Given the description of an element on the screen output the (x, y) to click on. 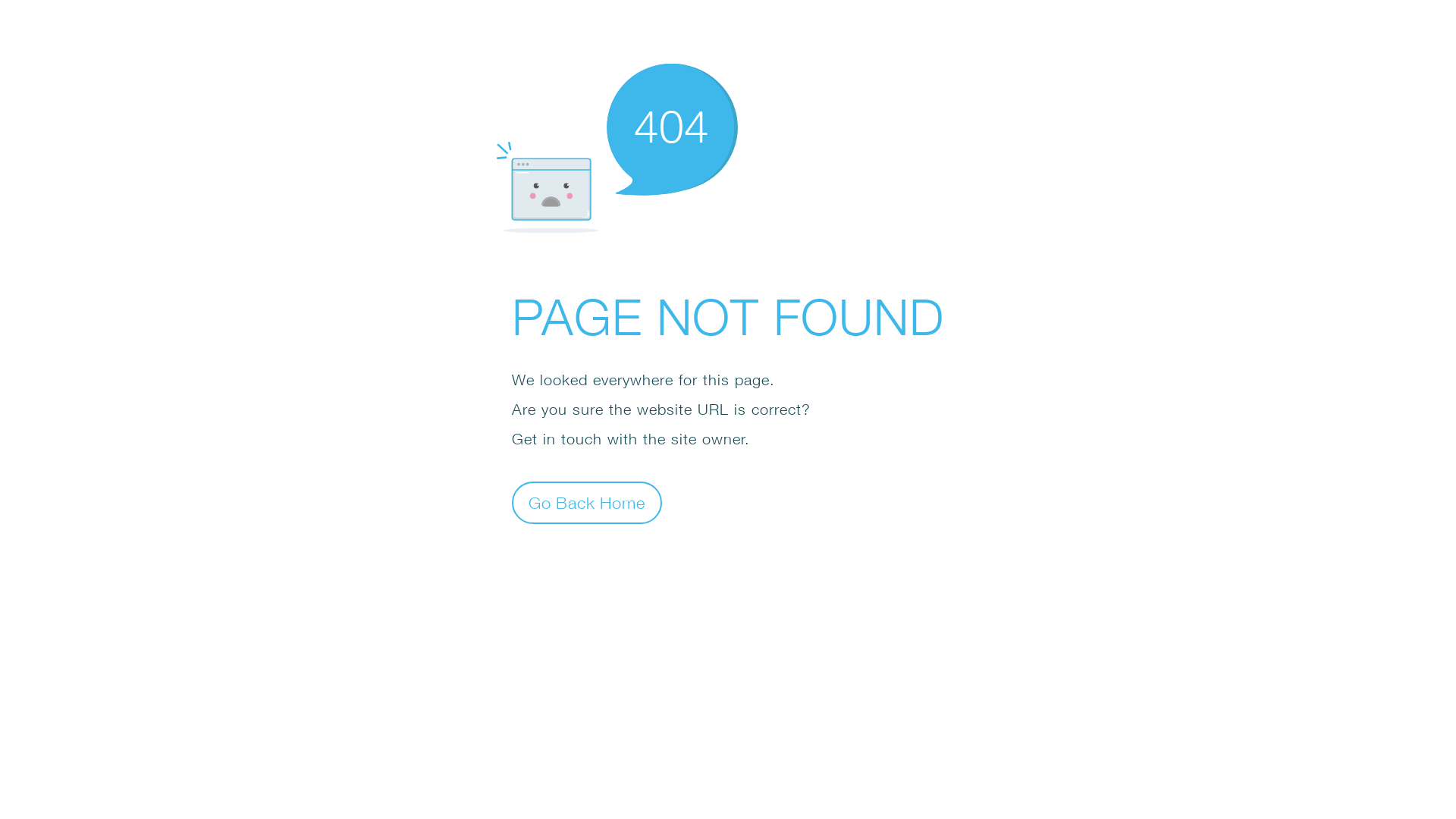
Go Back Home Element type: text (586, 502)
